Given the description of an element on the screen output the (x, y) to click on. 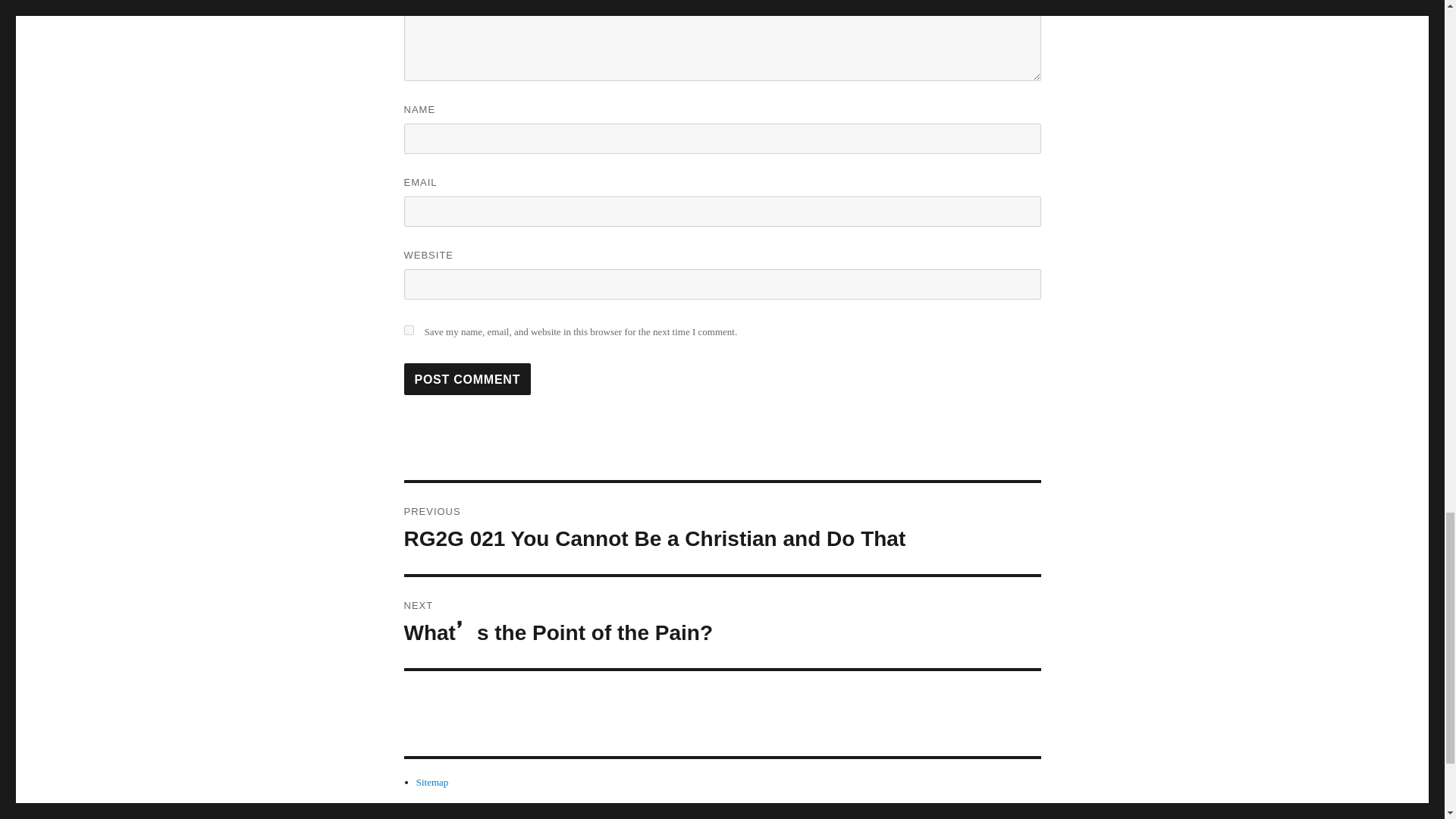
yes (408, 329)
Sitemap (432, 781)
Post Comment (467, 378)
Sitemap (432, 781)
Post Comment (467, 378)
